Given the description of an element on the screen output the (x, y) to click on. 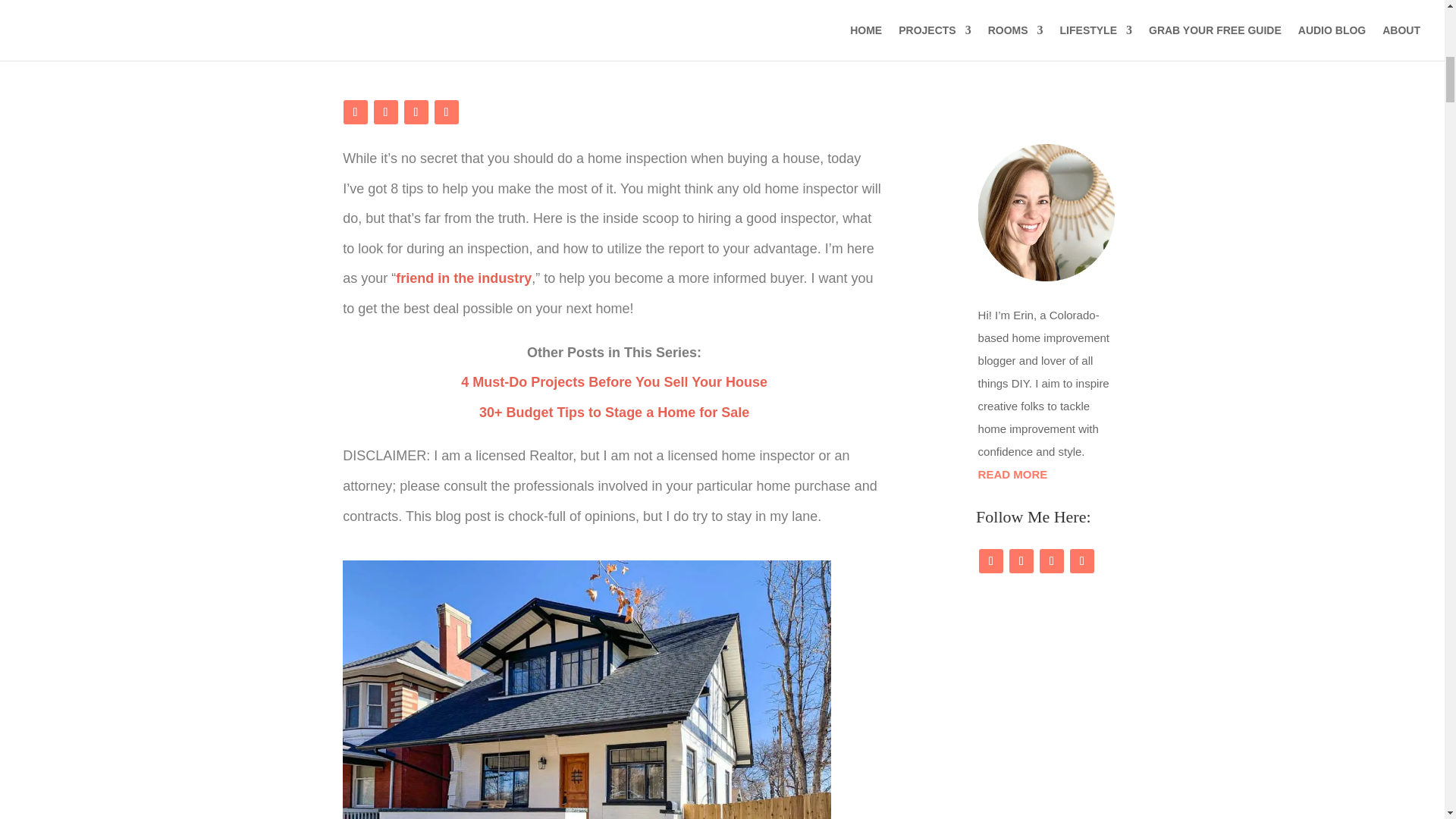
Follow on Facebook (354, 111)
Follow on Pinterest (415, 111)
about erin small circle (1046, 212)
Follow on Facebook (990, 560)
Follow on RSS (445, 111)
friend in the industry (463, 278)
Follow on Instagram (1021, 560)
Follow on Instagram (384, 111)
Read my disclosure here (426, 33)
Follow on Pinterest (1051, 560)
4 Must-Do Projects Before You Sell Your House (614, 381)
